Given the description of an element on the screen output the (x, y) to click on. 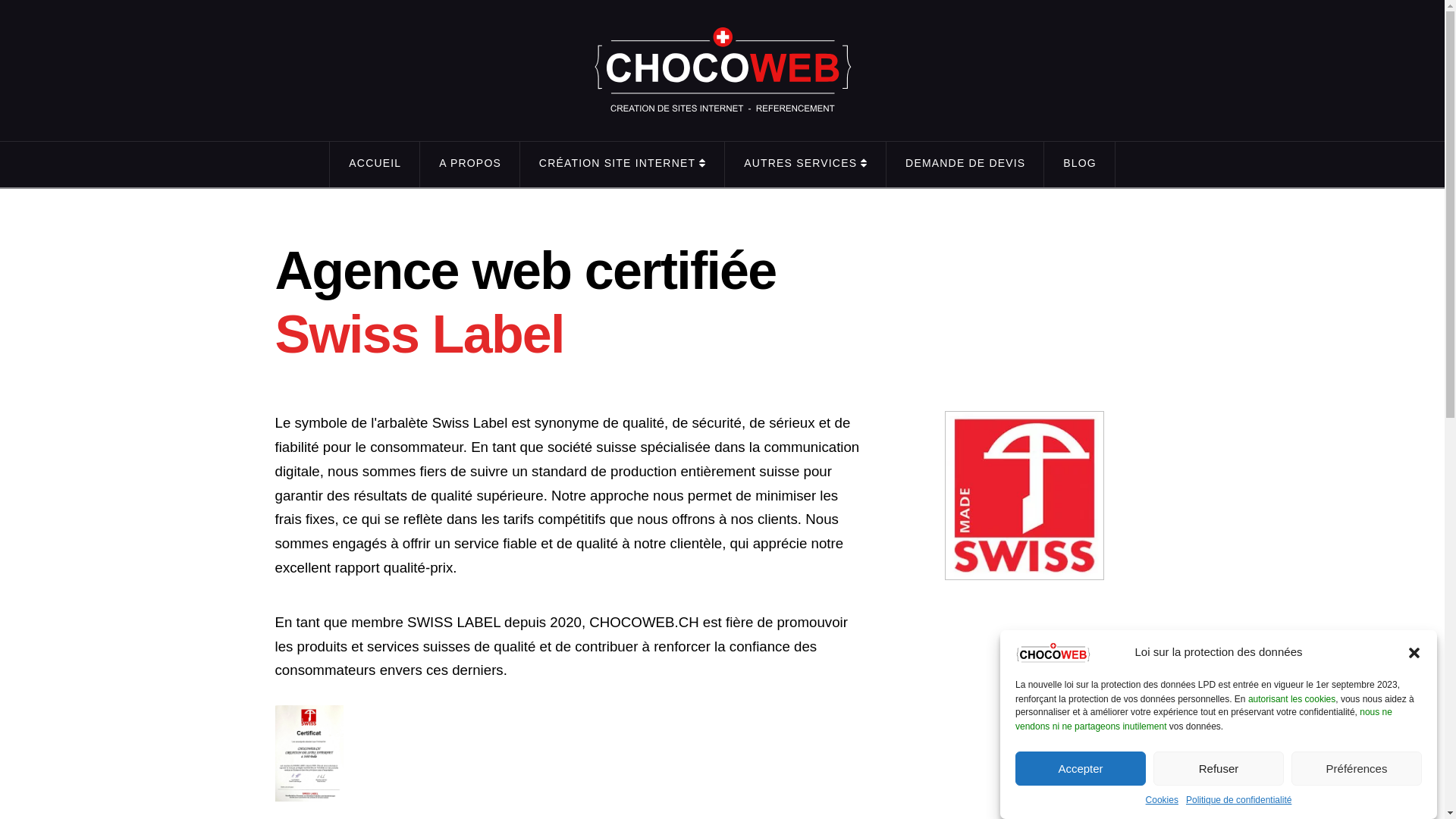
DEMANDE DE DEVIS Element type: text (965, 163)
Accepter Element type: text (1080, 769)
AUTRES SERVICES Element type: text (805, 163)
A PROPOS Element type: text (470, 163)
ACCUEIL Element type: text (374, 163)
Refuser Element type: text (1218, 769)
Cookies Element type: text (1161, 800)
BLOG Element type: text (1079, 163)
